Given the description of an element on the screen output the (x, y) to click on. 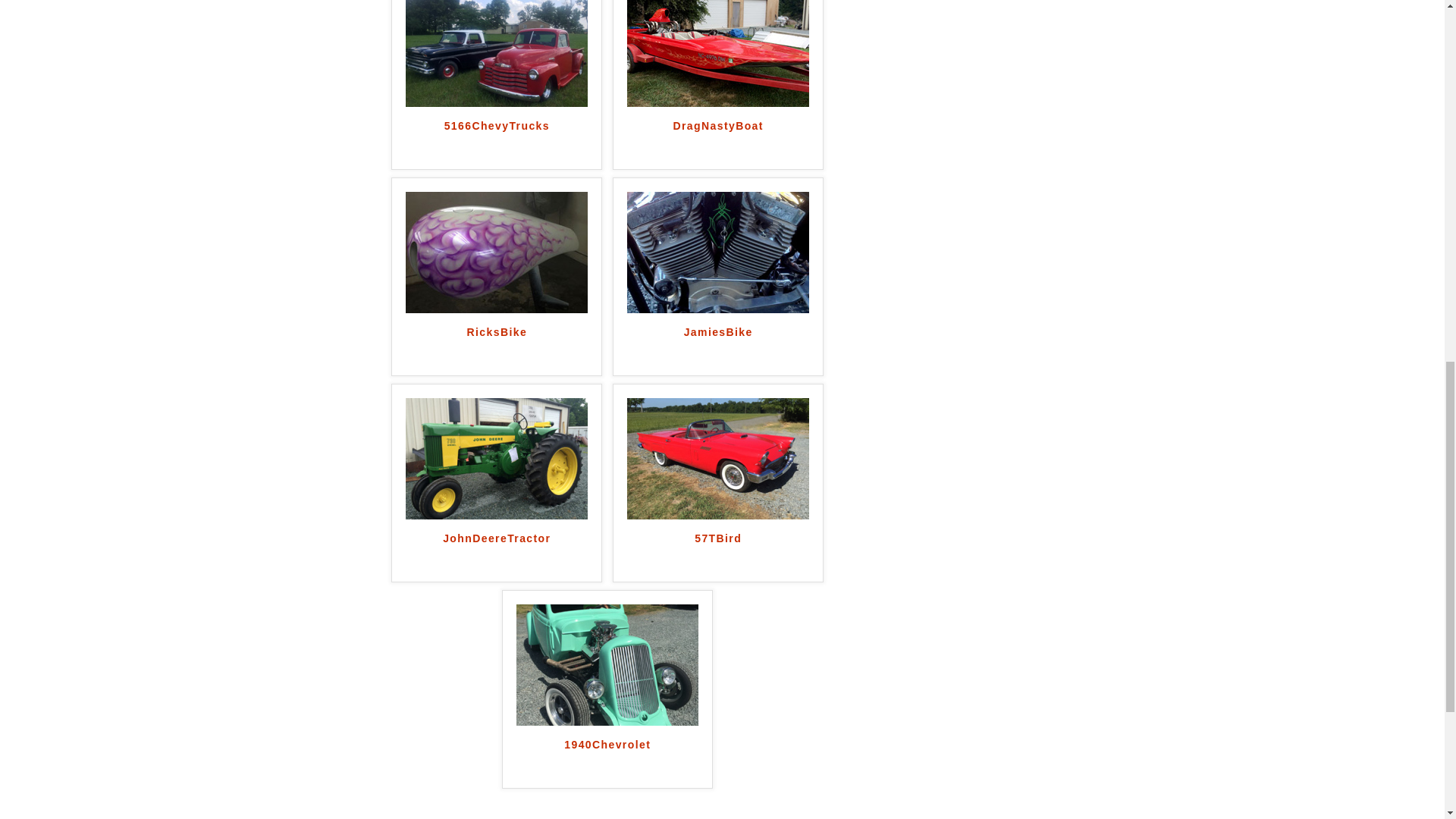
DragNastyBoat (718, 140)
5166ChevyTrucks (496, 140)
5166ChevyTrucks (497, 44)
DragNastyBoat (718, 51)
DragNastyBoat (718, 140)
RicksBike (496, 346)
RicksBike (496, 346)
5166ChevyTrucks (496, 140)
JamiesBike (718, 346)
JohnDeereTractor (497, 457)
JamiesBike (718, 250)
57TBird (718, 553)
JohnDeereTractor (496, 553)
1940Chevrolet (607, 759)
RicksBike (497, 250)
